Given the description of an element on the screen output the (x, y) to click on. 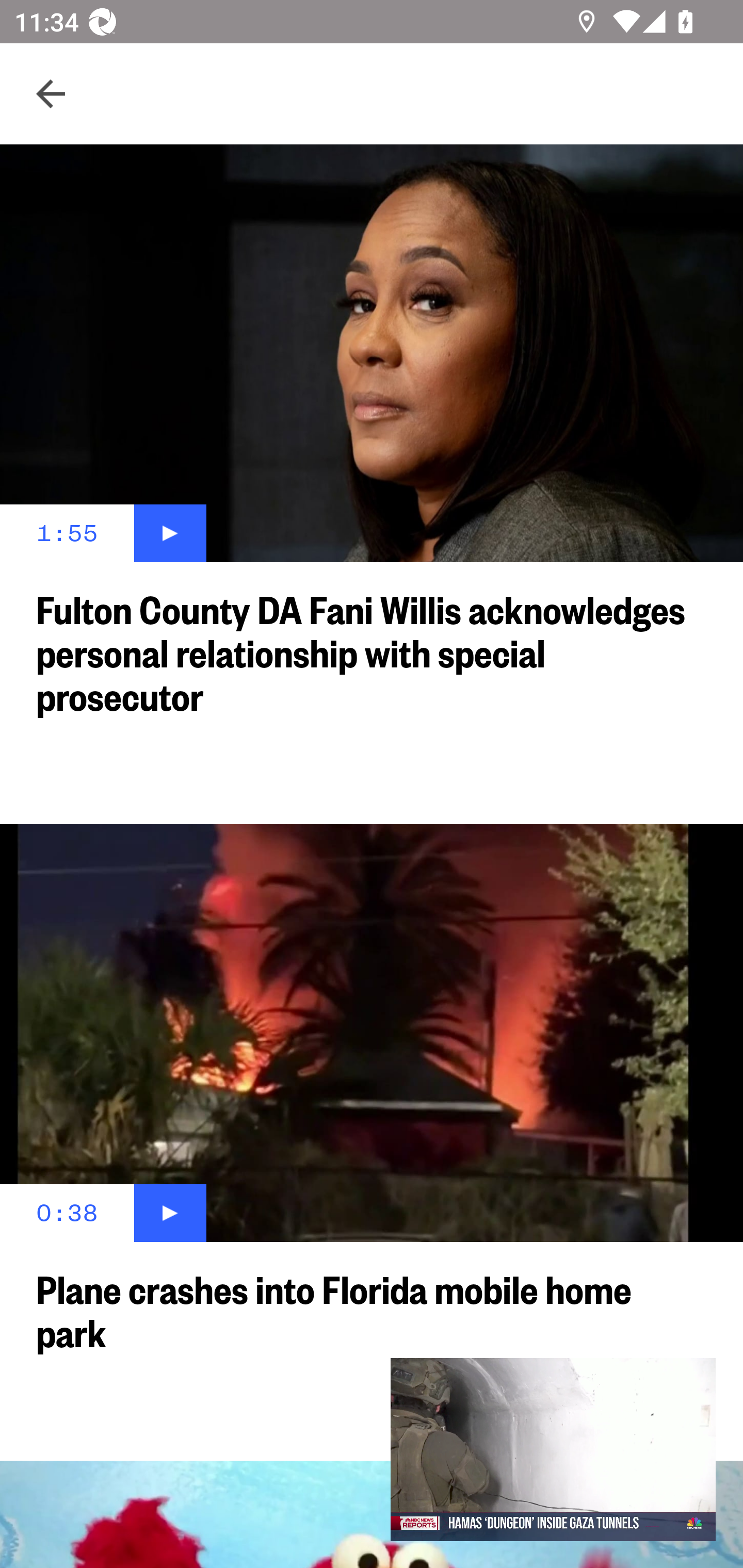
Navigate up (50, 93)
